Given the description of an element on the screen output the (x, y) to click on. 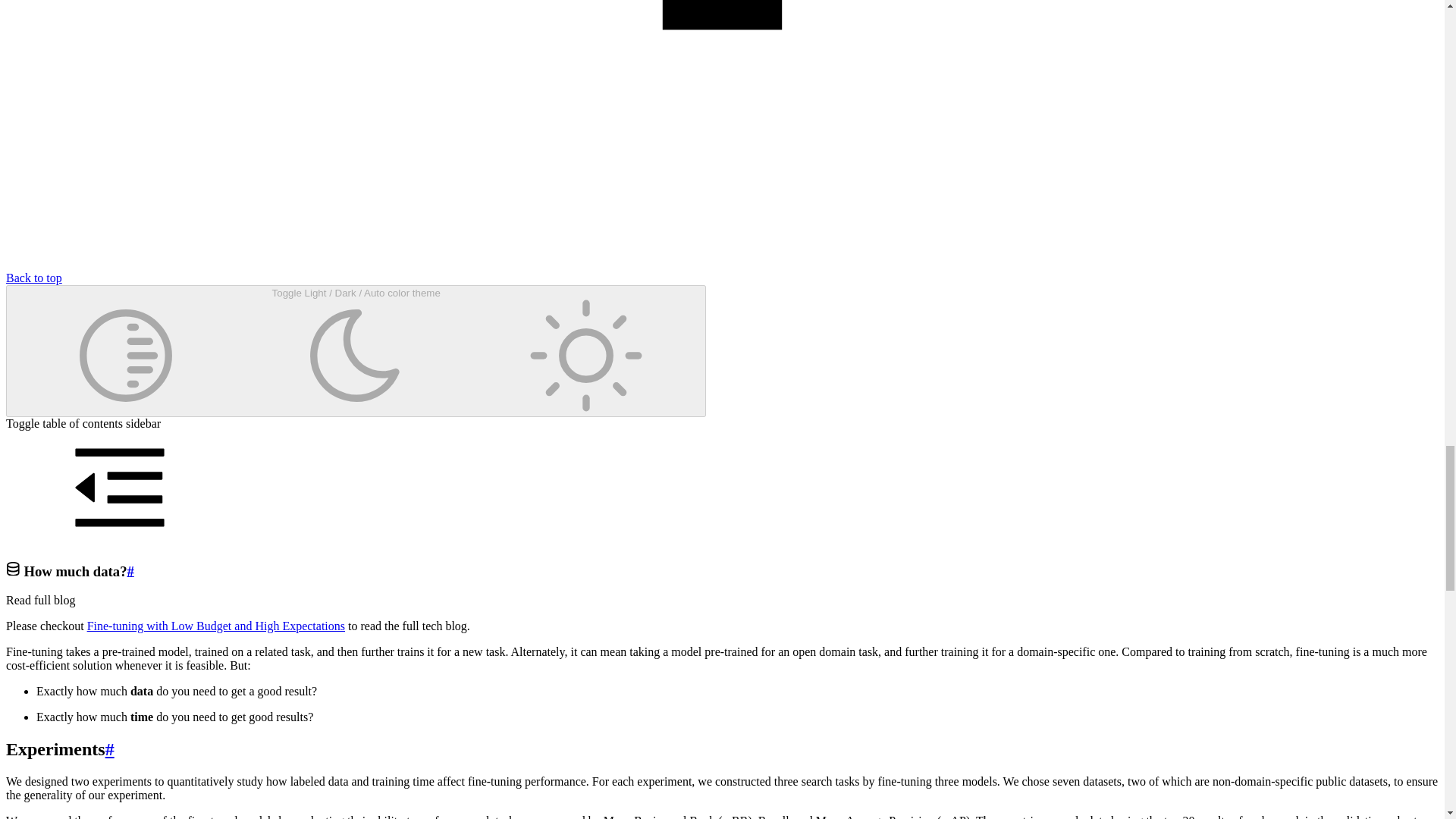
Fine-tuning with Low Budget and High Expectations (216, 625)
